Given the description of an element on the screen output the (x, y) to click on. 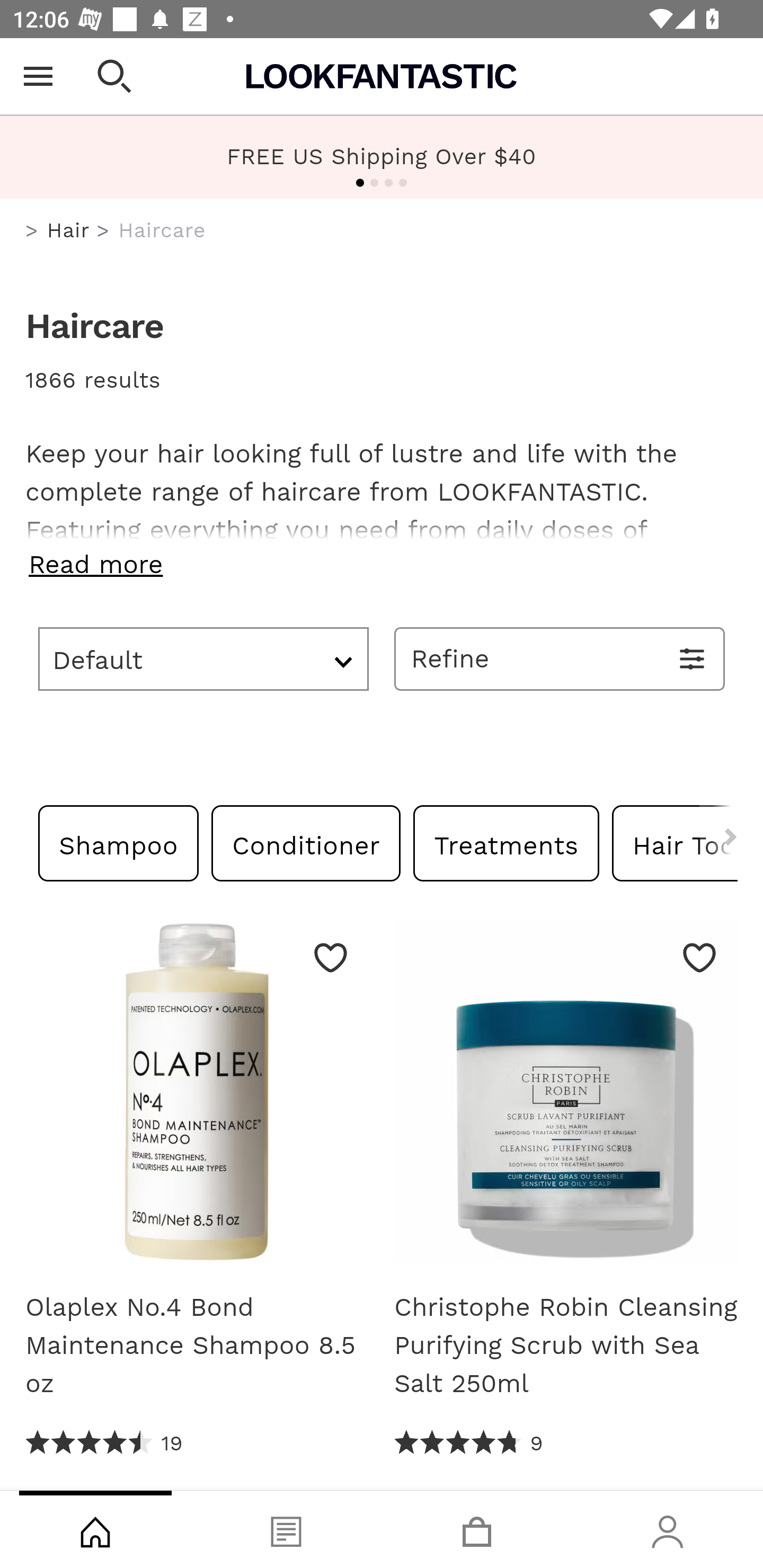
Open Menu (38, 75)
Open search (114, 75)
Lookfantastic USA (381, 75)
FREE US Shipping Over $40 (381, 157)
FREE US Shipping Over $40 (381, 155)
us.lookfantastic (32, 230)
Hair (67, 230)
Read more (381, 564)
Default (203, 658)
Refine (559, 658)
Shop Shampoo (118, 842)
Shop Conditioner (306, 842)
Shop Treatments (505, 842)
Olaplex No.4 Bond Maintenance Shampoo 8.5 oz (196, 1097)
Save to Wishlist (330, 957)
Save to Wishlist (698, 957)
Olaplex No.4 Bond Maintenance Shampoo 8.5 oz (196, 1344)
4.53 Stars 19 Reviews (104, 1442)
4.78 Stars 9 Reviews (468, 1442)
Shop, tab, 1 of 4 (95, 1529)
Blog, tab, 2 of 4 (285, 1529)
Basket, tab, 3 of 4 (476, 1529)
Account, tab, 4 of 4 (667, 1529)
